Given the description of an element on the screen output the (x, y) to click on. 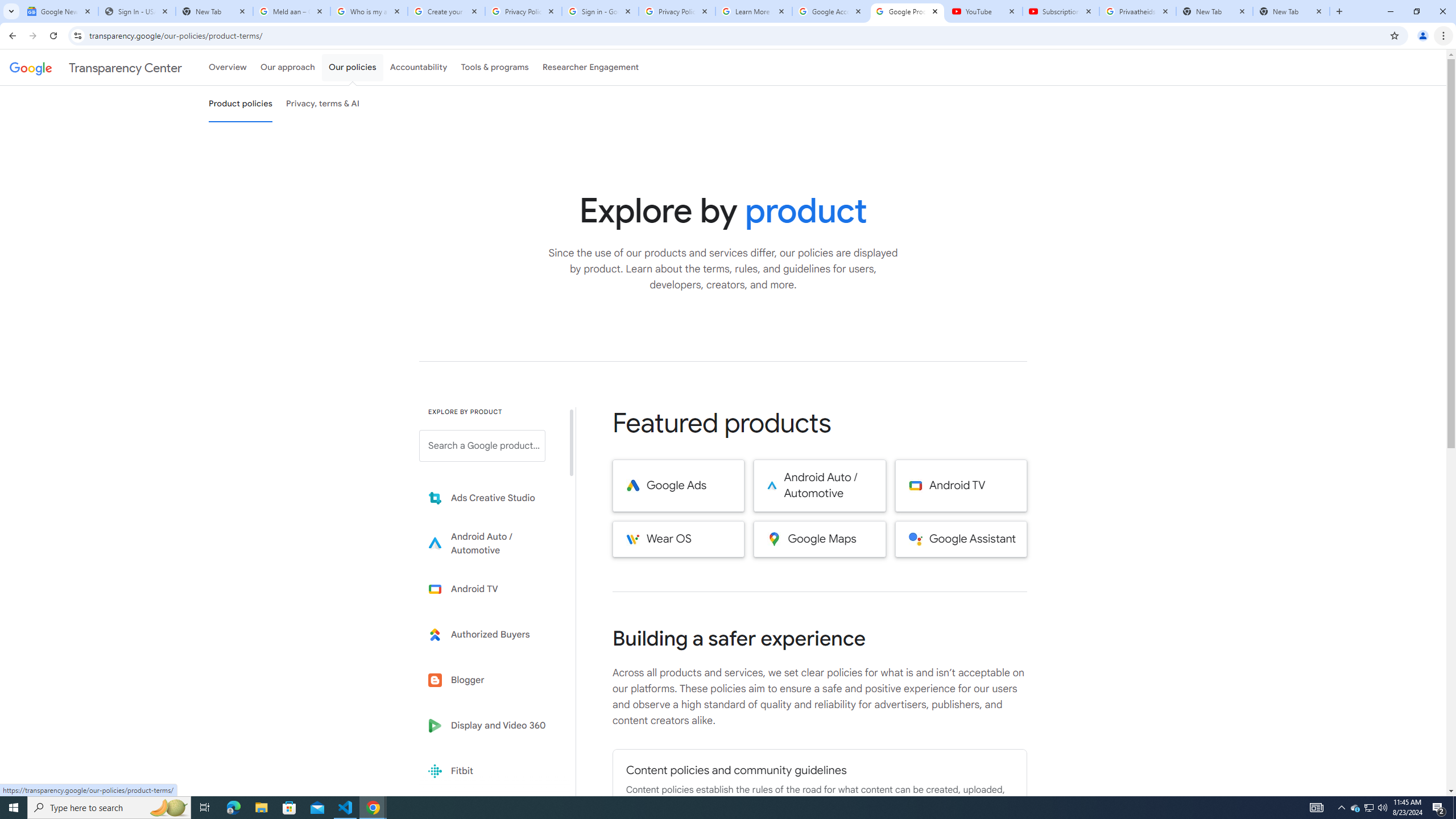
Learn more about Ads Creative Studio (490, 497)
Transparency Center (95, 67)
Learn more about Ads Creative Studio (490, 497)
Tools & programs (494, 67)
Fitbit (490, 770)
Android TV (960, 485)
Privacy, terms & AI (322, 103)
New Tab (1291, 11)
YouTube (983, 11)
Sign in - Google Accounts (599, 11)
Wear OS (678, 538)
Subscriptions - YouTube (1061, 11)
